Given the description of an element on the screen output the (x, y) to click on. 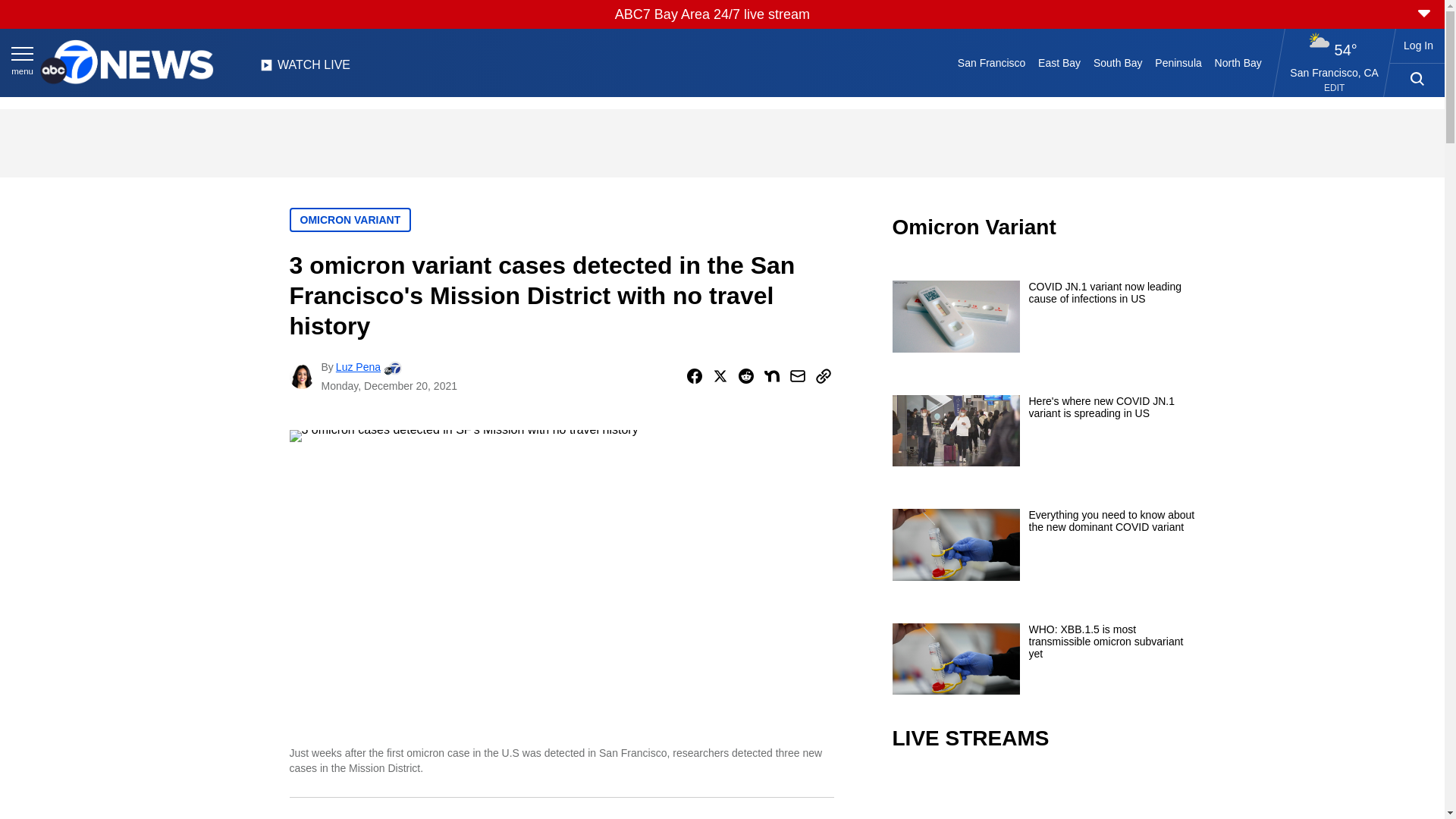
North Bay (1238, 62)
Peninsula (1178, 62)
video.title (1043, 796)
San Francisco, CA (1334, 72)
WATCH LIVE (305, 69)
South Bay (1117, 62)
San Francisco (990, 62)
EDIT (1333, 87)
East Bay (1059, 62)
